Given the description of an element on the screen output the (x, y) to click on. 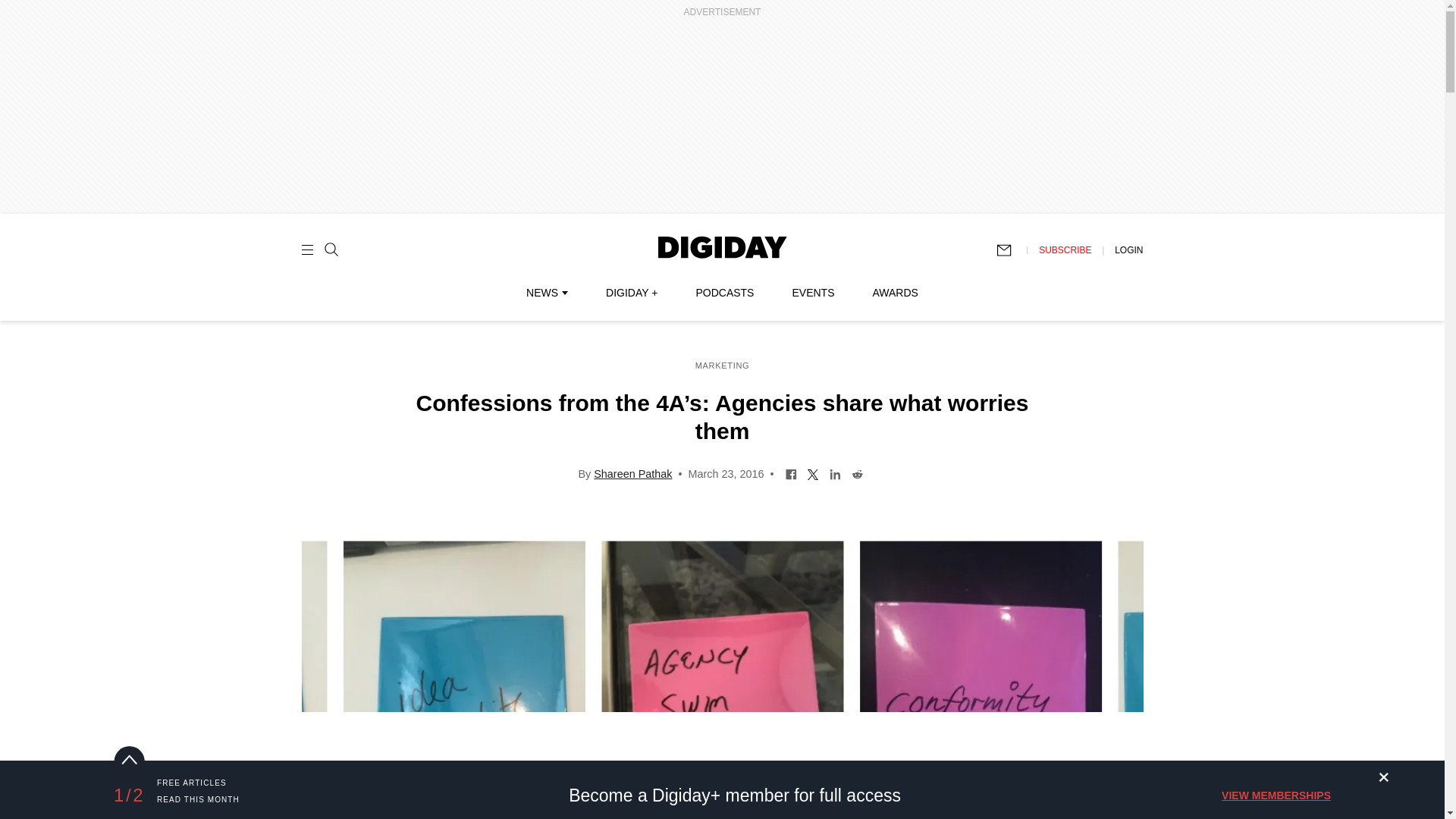
Share on Reddit (856, 472)
LOGIN (1128, 249)
PODCASTS (725, 292)
Share on Facebook (790, 472)
Subscribe (1010, 250)
NEWS (546, 292)
Share on LinkedIn (834, 472)
SUBSCRIBE (1064, 249)
EVENTS (813, 292)
Share on Twitter (812, 472)
AWARDS (894, 292)
